Given the description of an element on the screen output the (x, y) to click on. 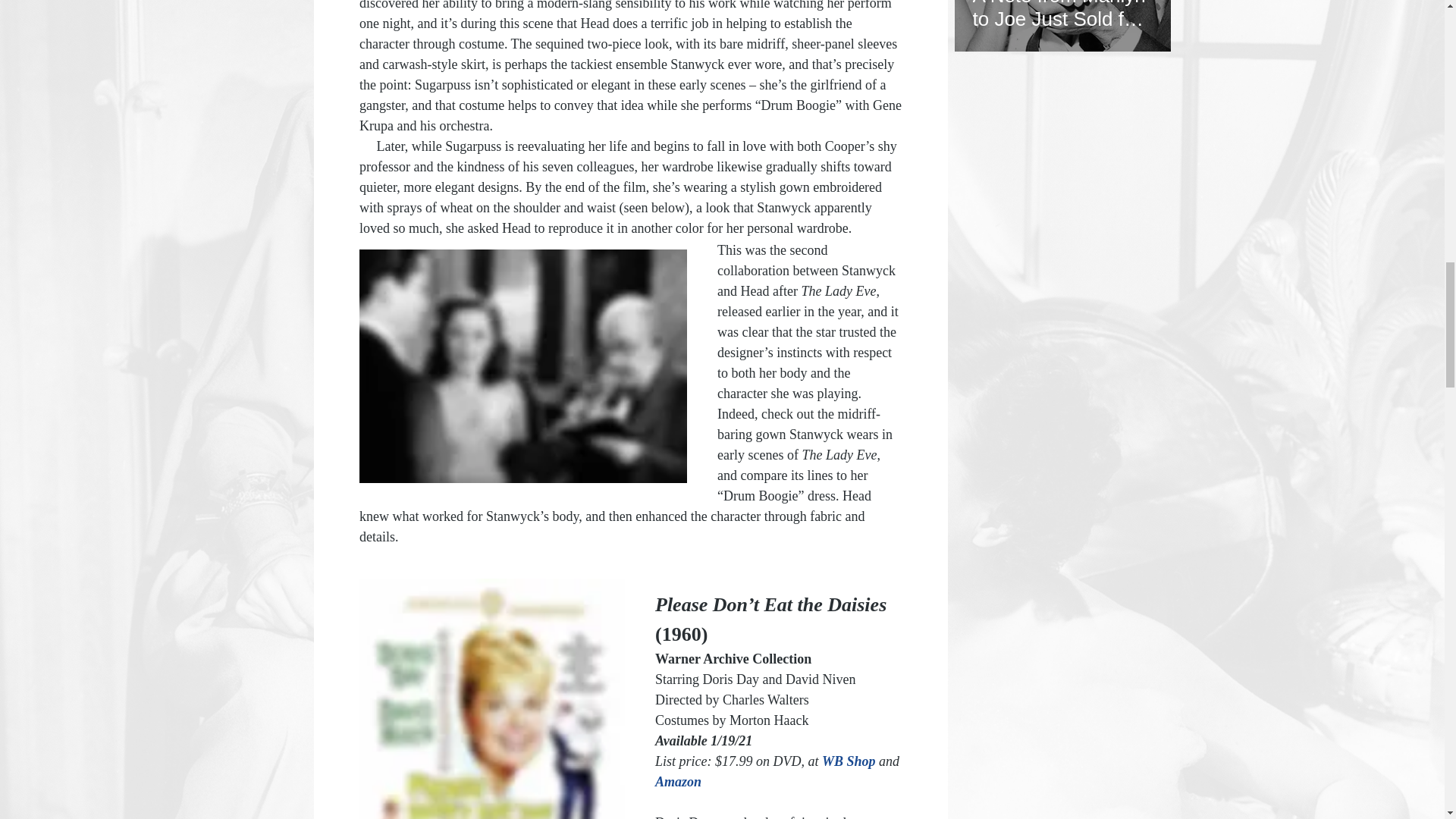
Amazon (678, 781)
WB Shop  (850, 761)
